Given the description of an element on the screen output the (x, y) to click on. 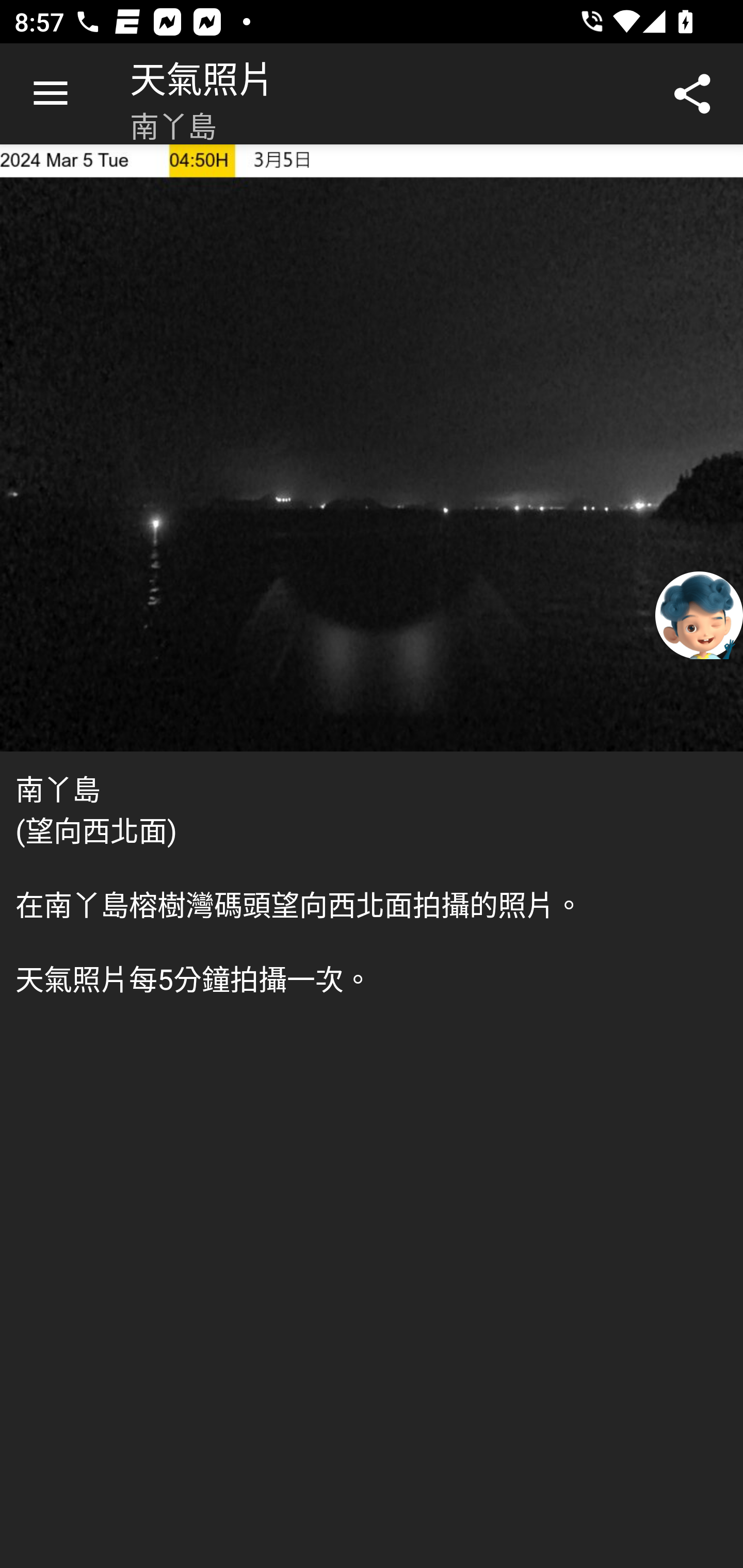
向上瀏覽 (50, 93)
分享 (692, 93)
聊天機械人 (699, 614)
